Given the description of an element on the screen output the (x, y) to click on. 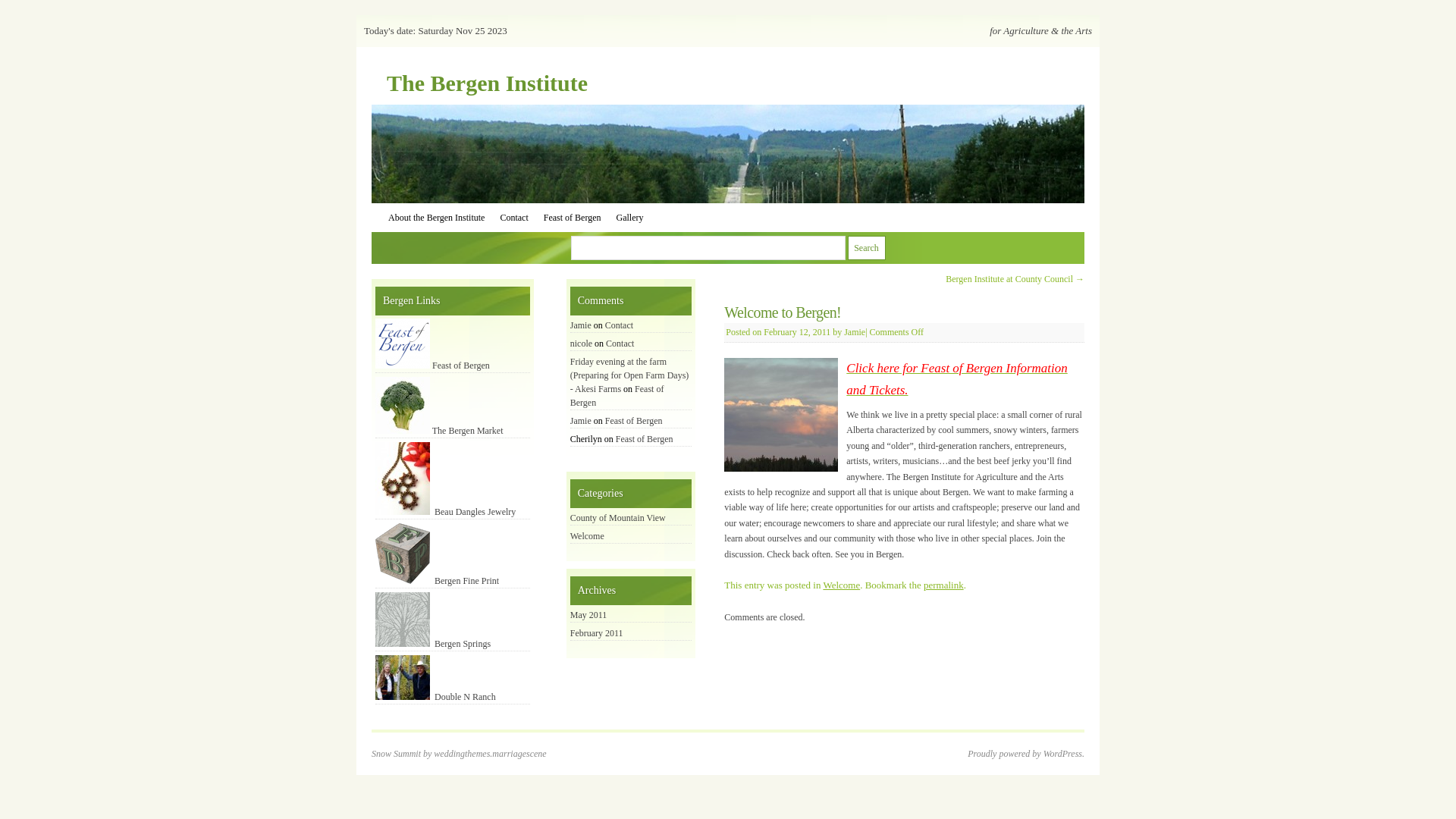
Jamie Element type: text (580, 420)
Gallery Element type: text (629, 217)
 Bergen Fine Print Element type: text (436, 580)
County of Mountain View Element type: text (617, 517)
 Beau Dangles Jewelry Element type: text (445, 511)
Professional printing in Bergen Element type: hover (402, 553)
OLYMPUS DIGITAL CAMERA Element type: hover (780, 414)
Welcome Element type: text (840, 584)
Fresh. Healthy. Local. Element type: hover (402, 404)
nicole Element type: text (581, 343)
Search Element type: text (866, 247)
Feast of Bergen Element type: text (432, 365)
Bergen Springs Condominium Association Element type: hover (402, 619)
The Bergen Market Element type: text (439, 430)
Feast of Bergen Element type: text (617, 395)
Feast of Bergen Element type: text (572, 217)
 Double N Ranch Element type: text (435, 696)
Jamie Element type: text (580, 325)
Contact Element type: text (619, 343)
The Best of Rural Life Element type: hover (402, 343)
About the Bergen Institute Element type: text (436, 217)
Feast of Bergen Element type: text (644, 438)
Contact Element type: text (513, 217)
Proudly powered by WordPress. Element type: text (1025, 753)
Welcome Element type: text (587, 535)
The Bergen Institute Element type: text (486, 82)
 Bergen Springs Element type: text (432, 643)
Jamie Element type: text (854, 331)
Contact Element type: text (619, 325)
Feast of Bergen Element type: text (633, 420)
February 2011 Element type: text (596, 632)
May 2011 Element type: text (588, 614)
Click here for Feast of Bergen Information and Tickets. Element type: text (956, 378)
permalink Element type: text (943, 584)
Bergen Traditional Element type: hover (402, 677)
weddingthemes.marriagescene Element type: text (489, 753)
February 12, 2011 Element type: text (796, 331)
